Given the description of an element on the screen output the (x, y) to click on. 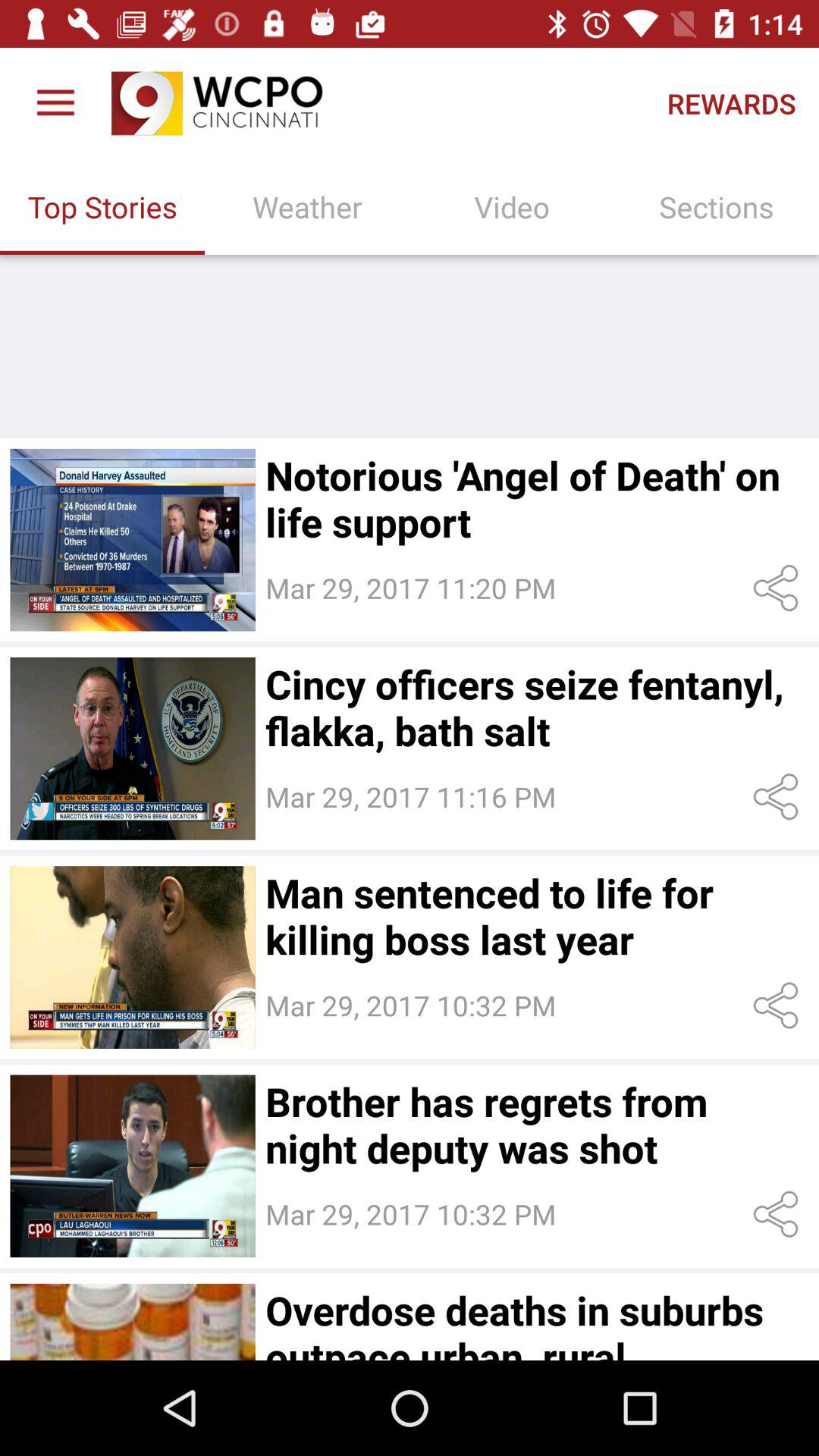
share this (778, 796)
